Given the description of an element on the screen output the (x, y) to click on. 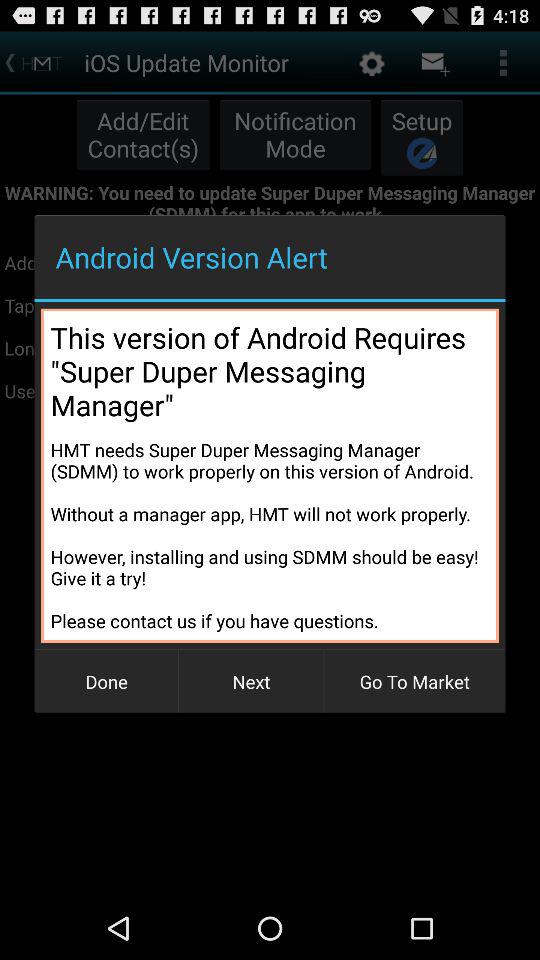
tap next button (251, 681)
